Given the description of an element on the screen output the (x, y) to click on. 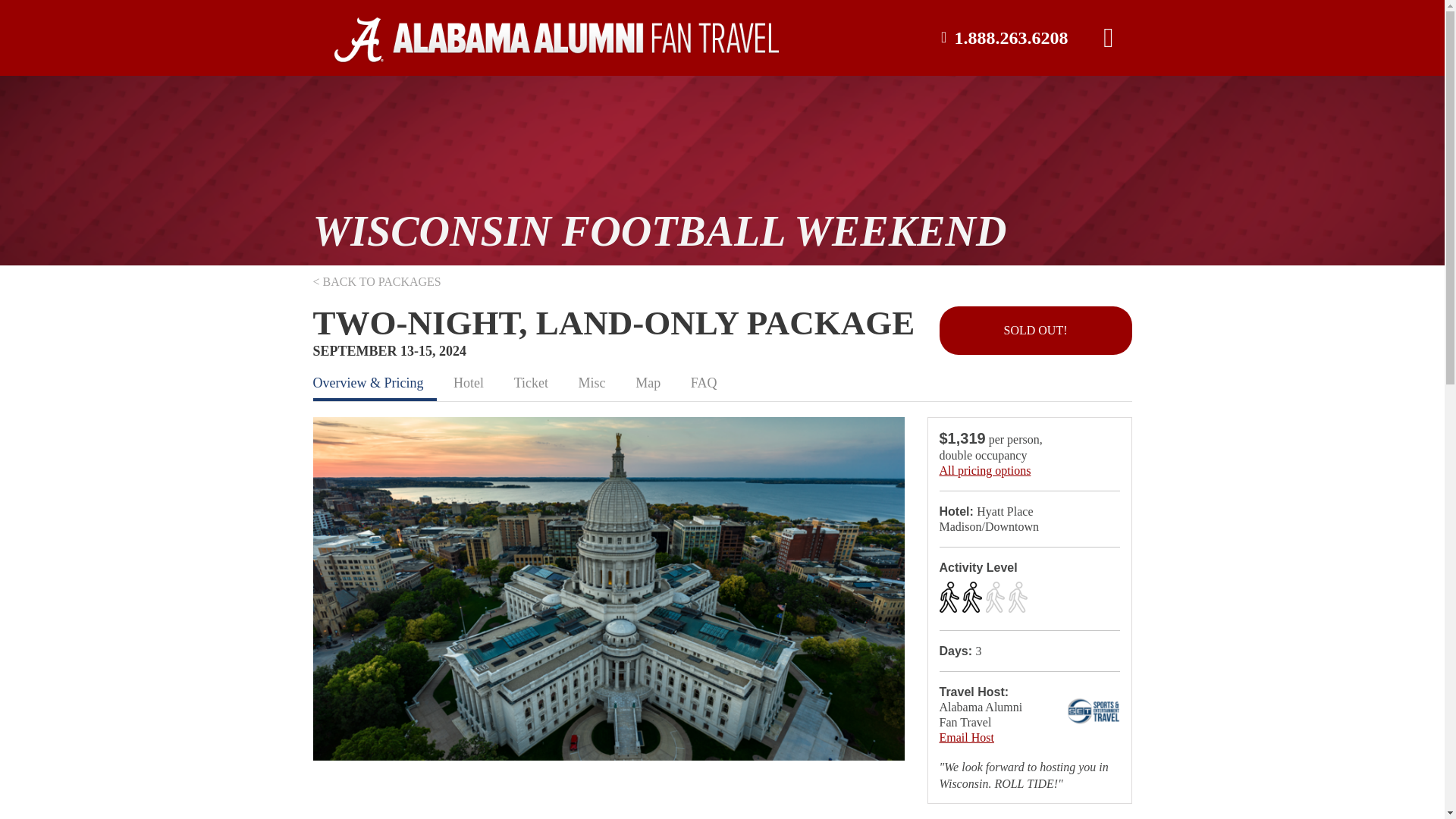
FAQ (703, 382)
SOLD OUT! (1035, 330)
Ticket (531, 382)
Map (647, 382)
Misc (592, 382)
Hotel (468, 382)
All pricing options (984, 470)
